Given the description of an element on the screen output the (x, y) to click on. 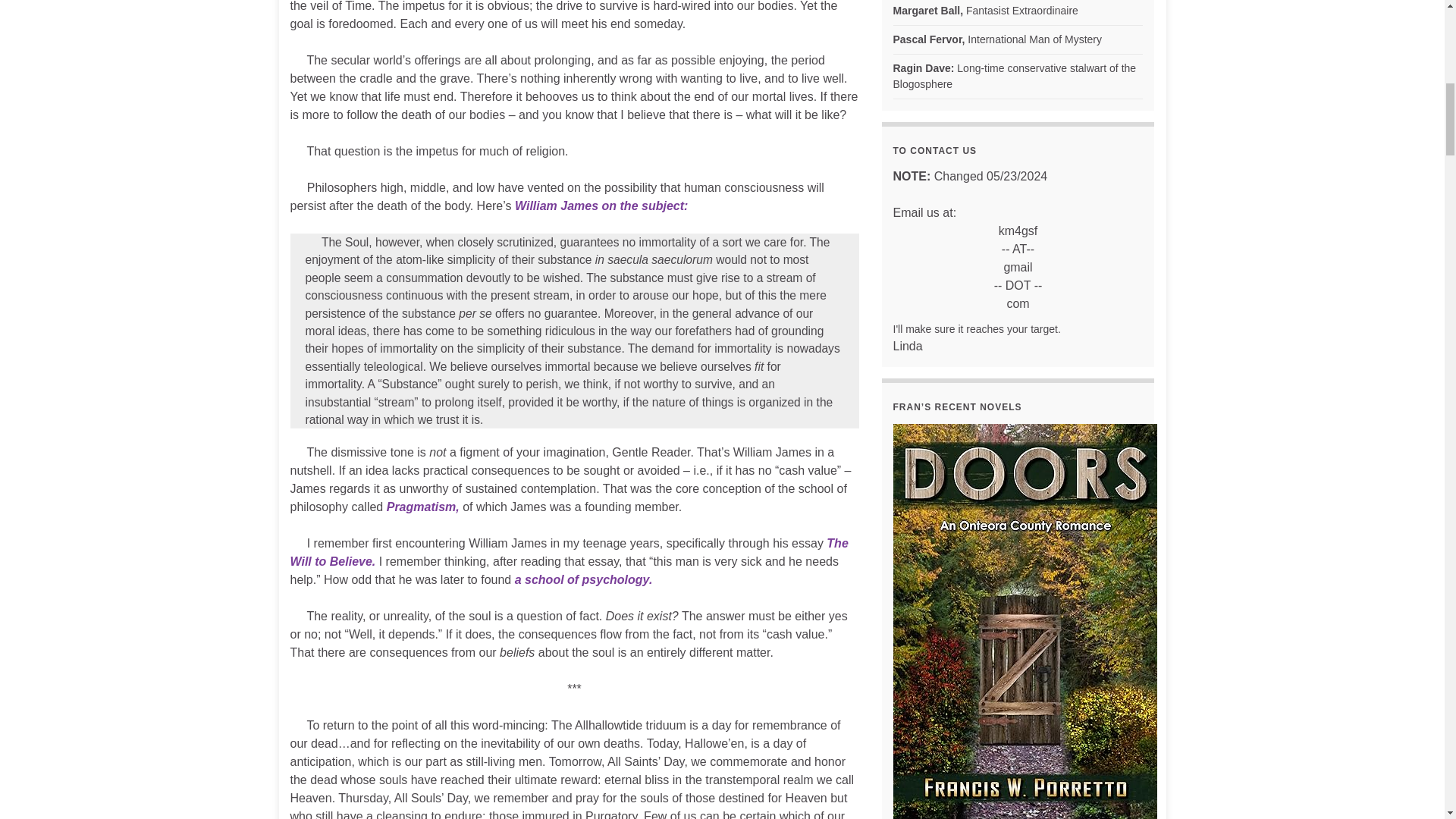
William James on the subject: (601, 205)
The Will to Believe. (568, 552)
a school of psychology. (583, 579)
Pragmatism, (423, 506)
